Given the description of an element on the screen output the (x, y) to click on. 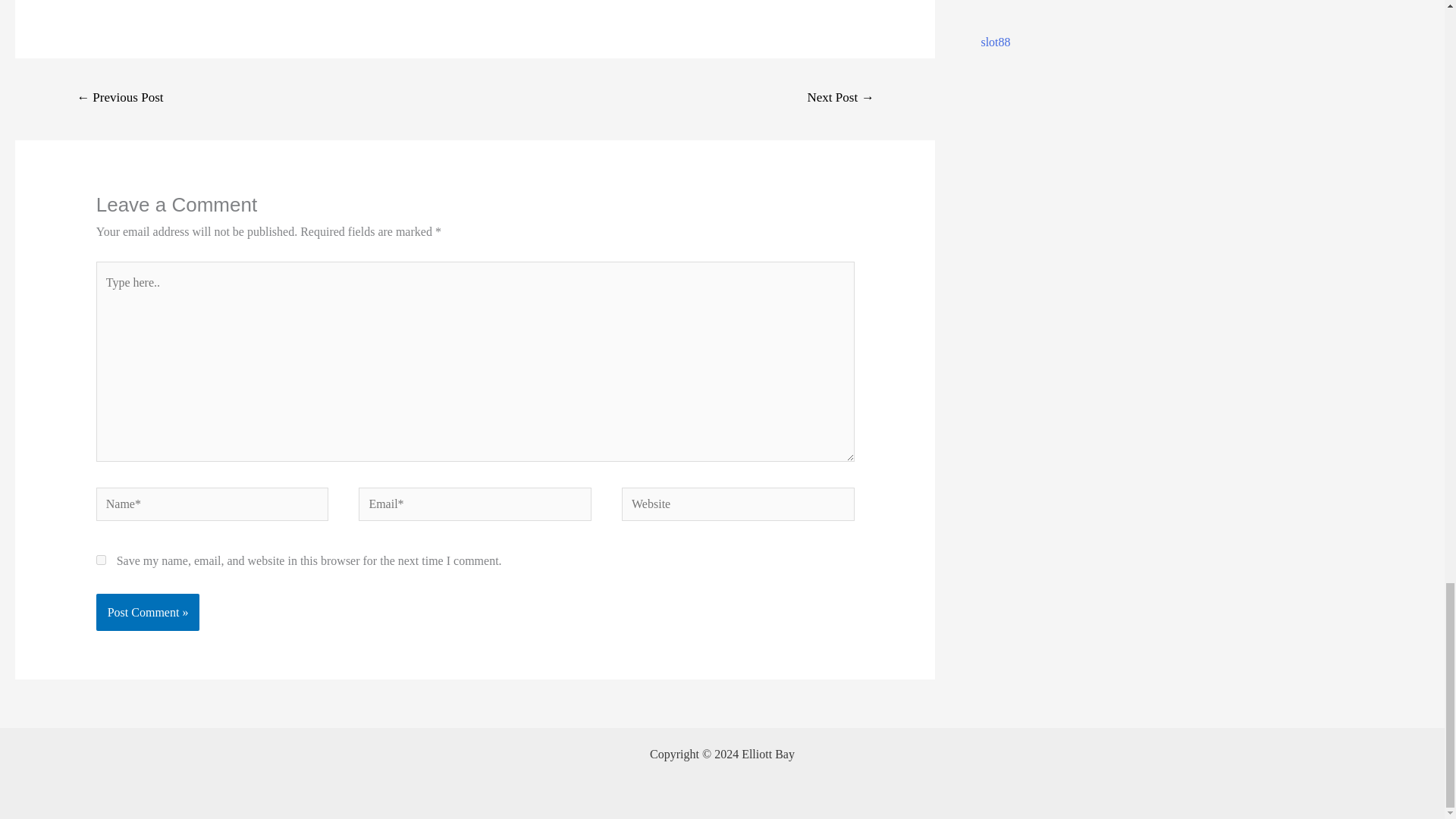
yes (101, 560)
